Given the description of an element on the screen output the (x, y) to click on. 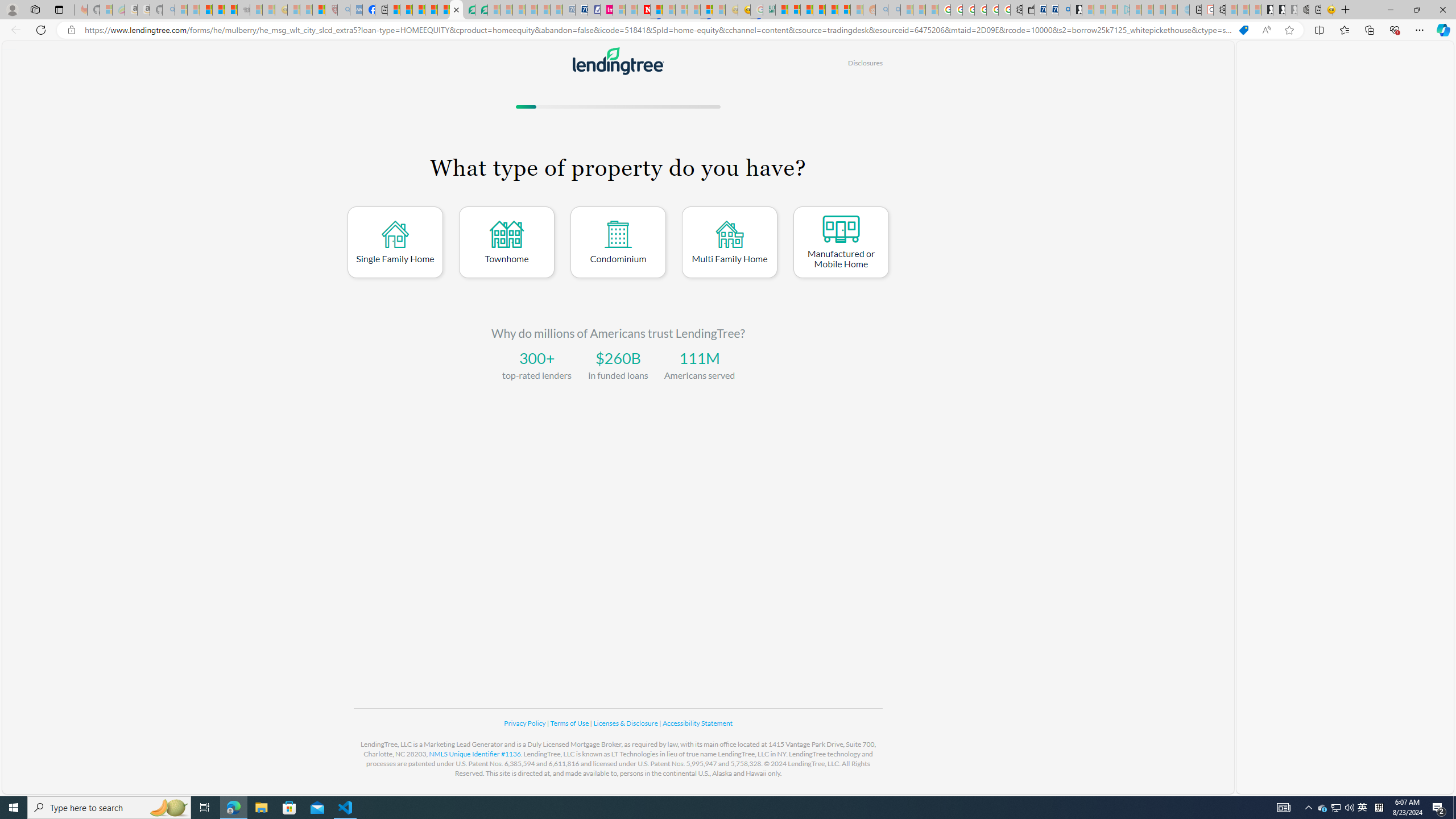
Terms of Use  (569, 723)
Latest Politics News & Archive | Newsweek.com (644, 9)
NMLS Unique Identifier #1136 (475, 753)
Privacy Policy  (525, 723)
Disclosures (864, 62)
